Given the description of an element on the screen output the (x, y) to click on. 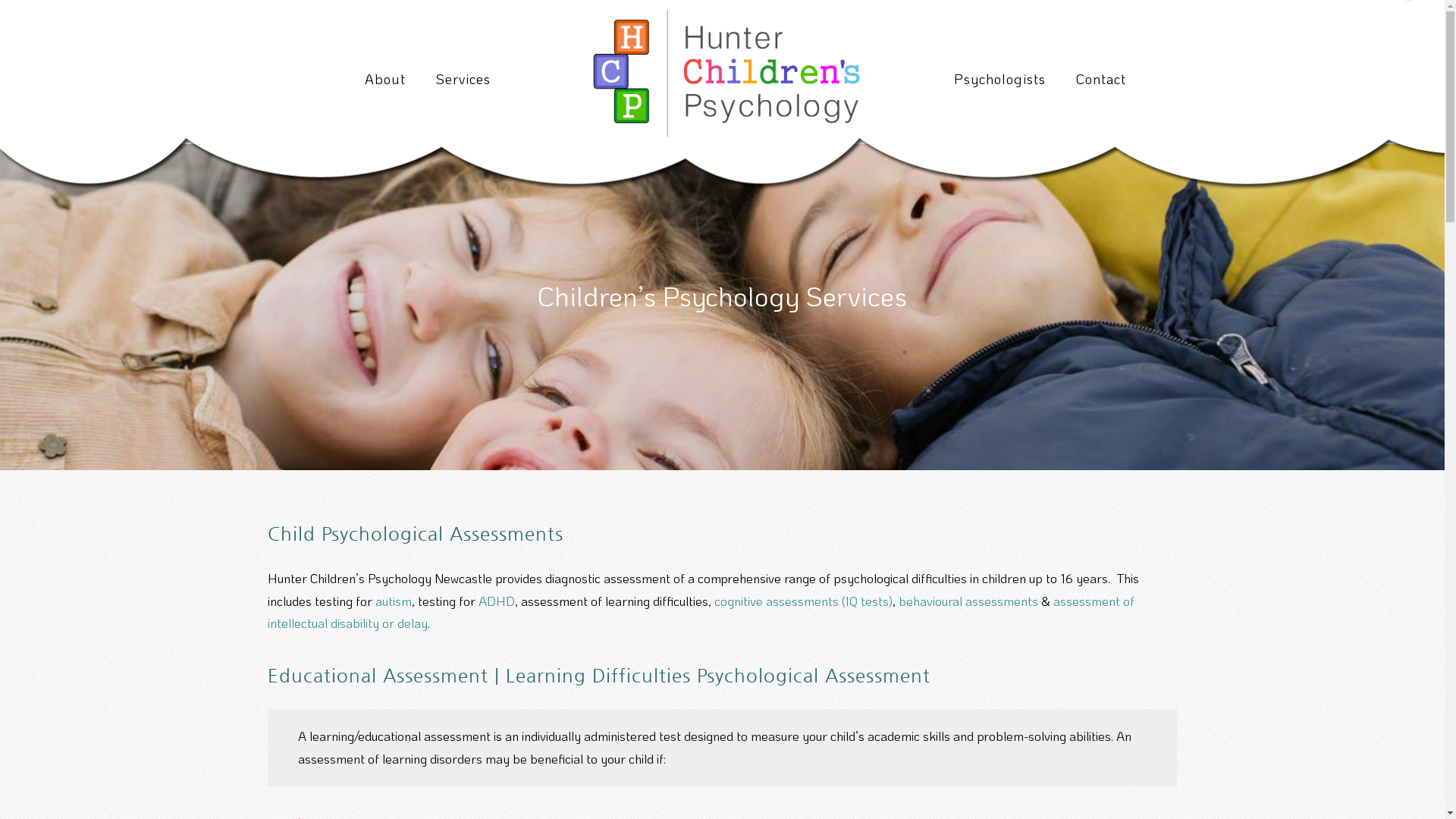
Contact Element type: text (1100, 78)
assessment of intellectual disability or delay Element type: text (699, 610)
cognitive assessments (IQ tests) Element type: text (803, 599)
HUNTER CHILDRENS PSYCHOLOGY Element type: text (721, 70)
Services Element type: text (462, 78)
About Element type: text (384, 78)
Psychologists Element type: text (999, 78)
behavioural assessments Element type: text (967, 599)
autism Element type: text (392, 599)
ADHD Element type: text (495, 599)
